Given the description of an element on the screen output the (x, y) to click on. 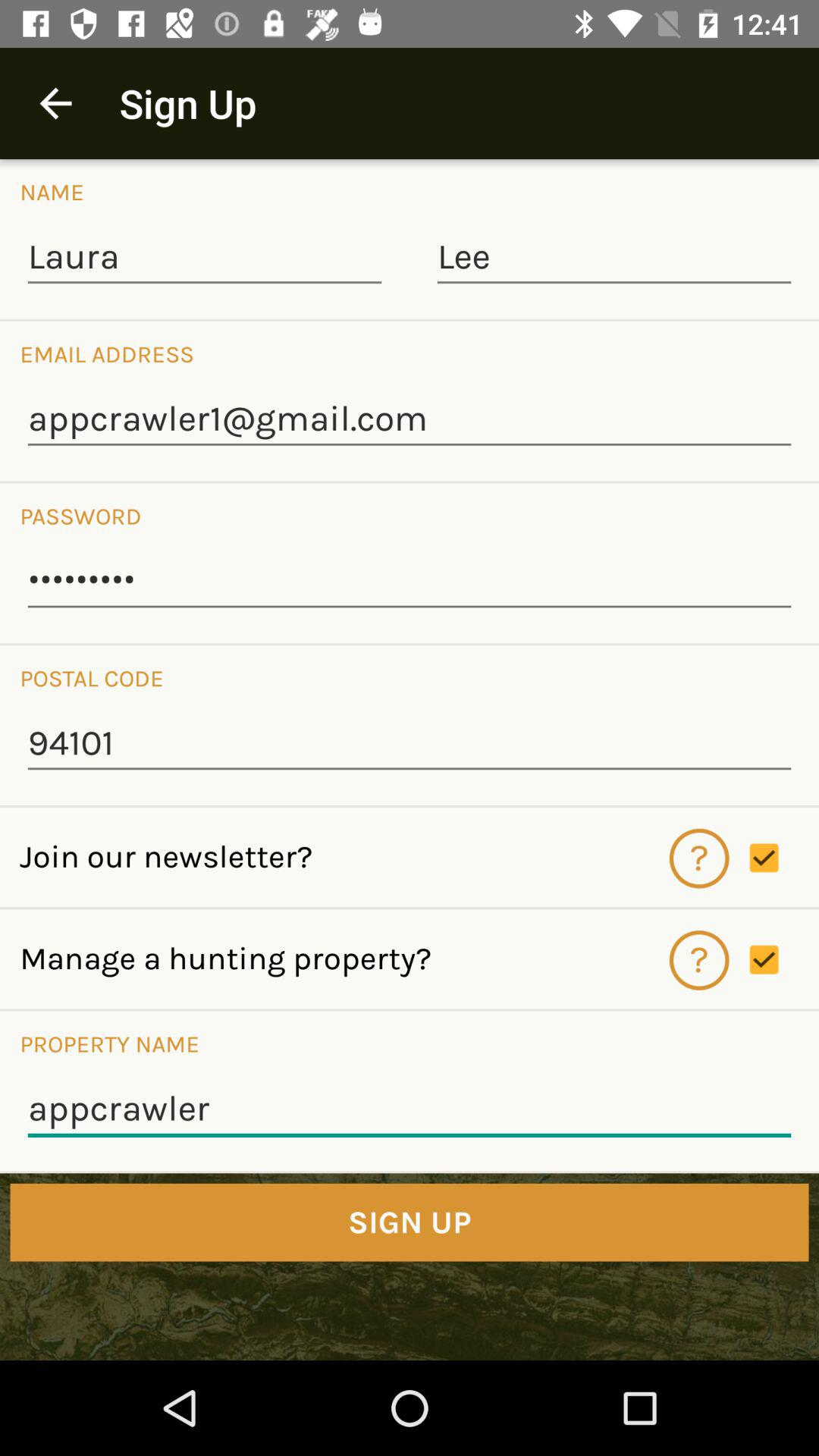
open the item next to lee item (204, 257)
